Given the description of an element on the screen output the (x, y) to click on. 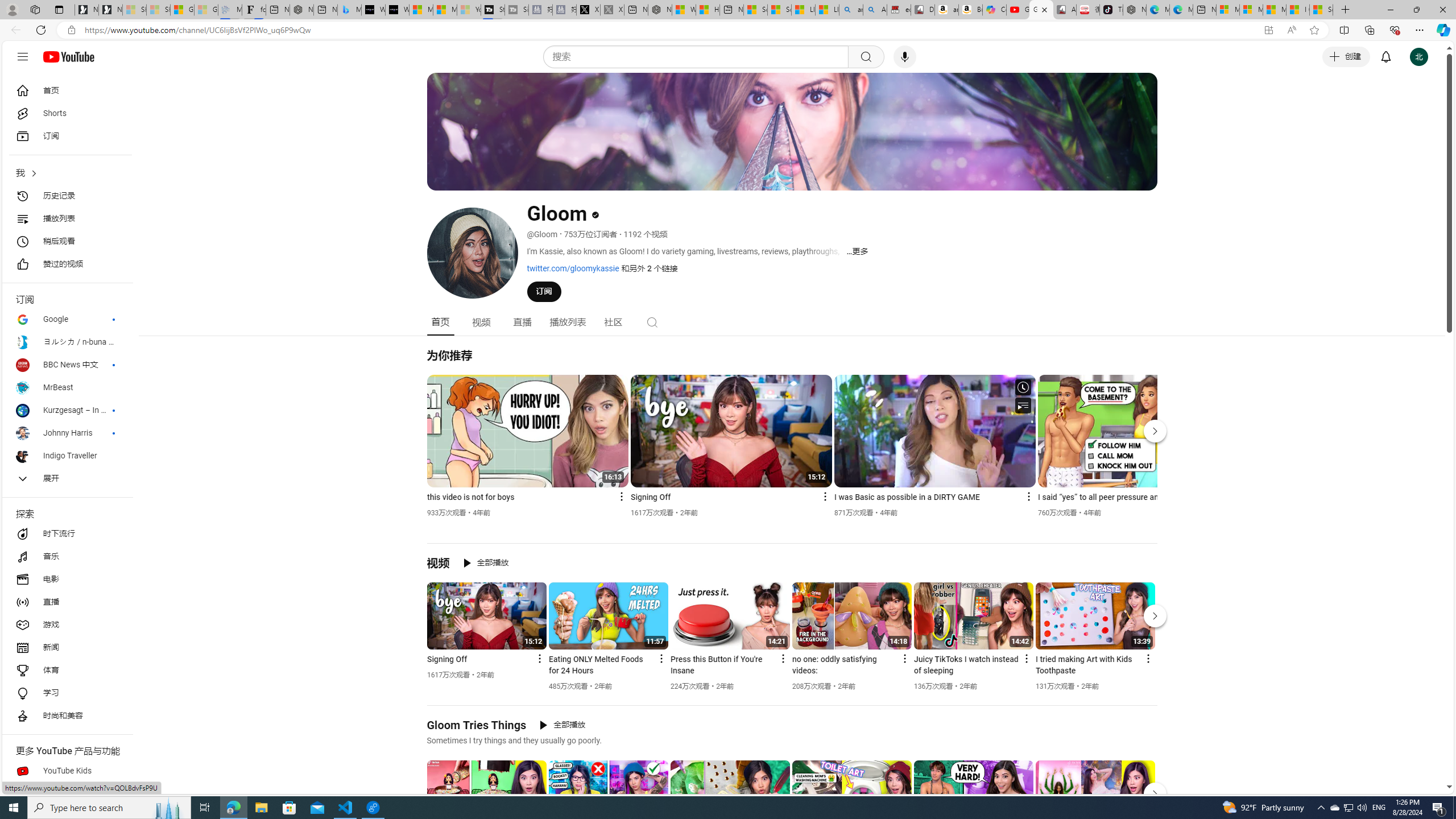
YouTube Kids (66, 771)
Microsoft Bing Travel - Shangri-La Hotel Bangkok (349, 9)
Shorts (66, 113)
Gloom Tries Things (476, 725)
